Given the description of an element on the screen output the (x, y) to click on. 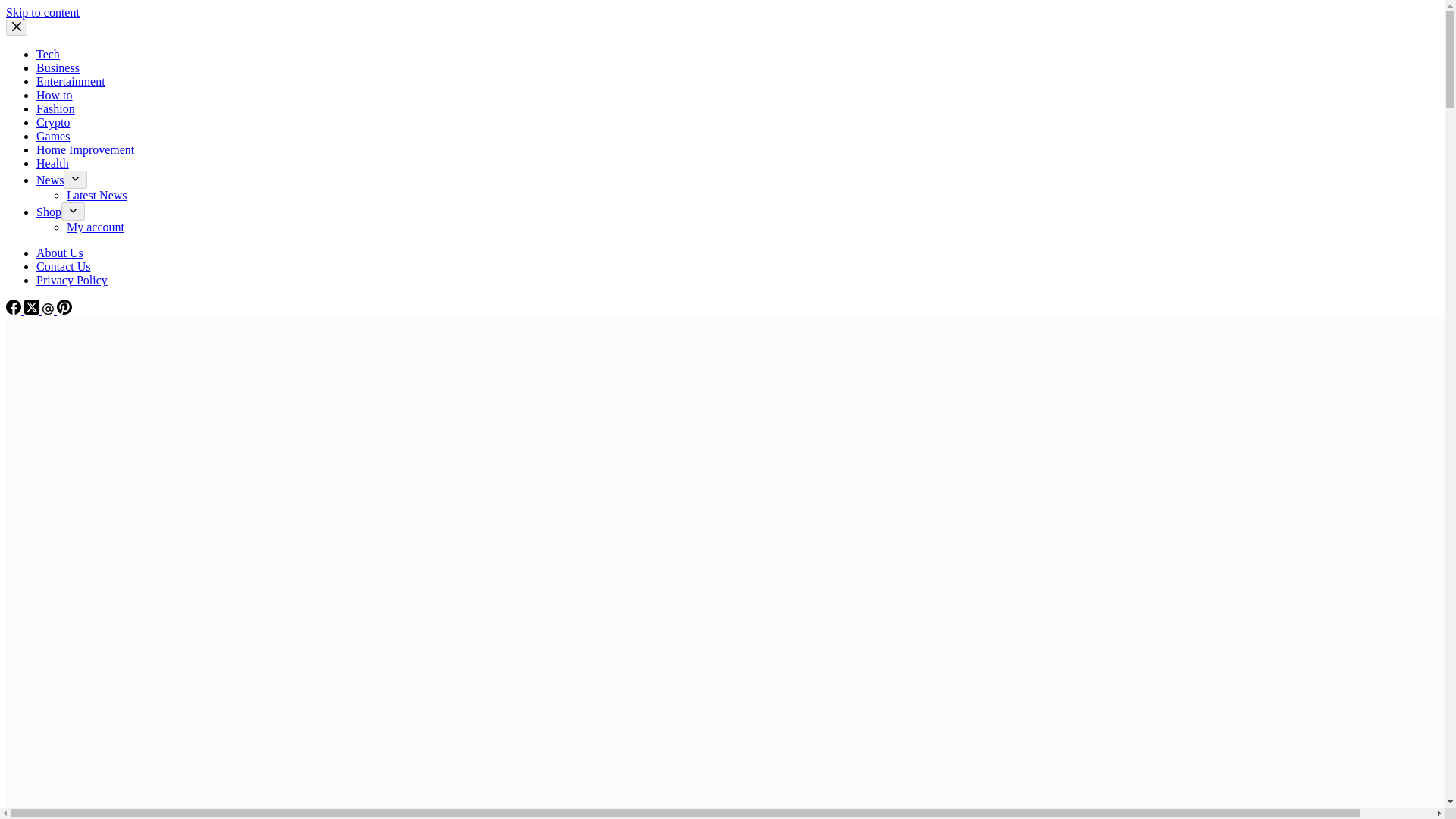
Privacy Policy (71, 279)
Shop (48, 211)
Games (52, 135)
Fashion (55, 108)
Entertainment (70, 81)
My account (94, 226)
About Us (59, 252)
Health (52, 163)
Tech (47, 53)
Home Improvement (84, 149)
Contact Us (63, 266)
News (50, 179)
Latest News (97, 195)
Crypto (52, 122)
How to (54, 94)
